Given the description of an element on the screen output the (x, y) to click on. 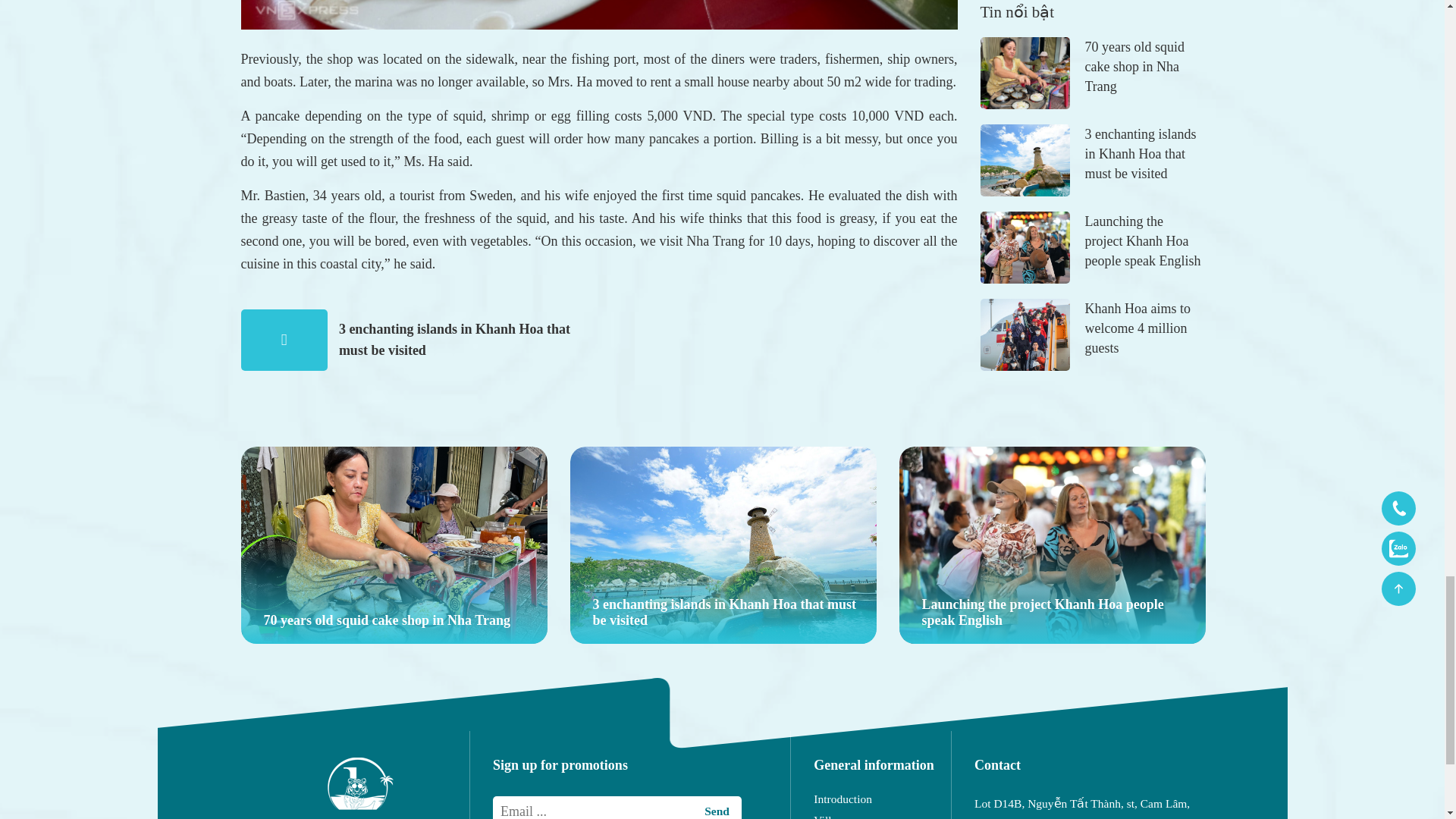
3 enchanting islands in Khanh Hoa that must be visited (454, 339)
Send (716, 811)
70 years old squid cake shop in Nha Trang (394, 544)
Villas (881, 816)
Launching the project Khanh Hoa people speak English (1052, 544)
Introduction (881, 798)
3 enchanting islands in Khanh Hoa that must be visited (723, 544)
